Given the description of an element on the screen output the (x, y) to click on. 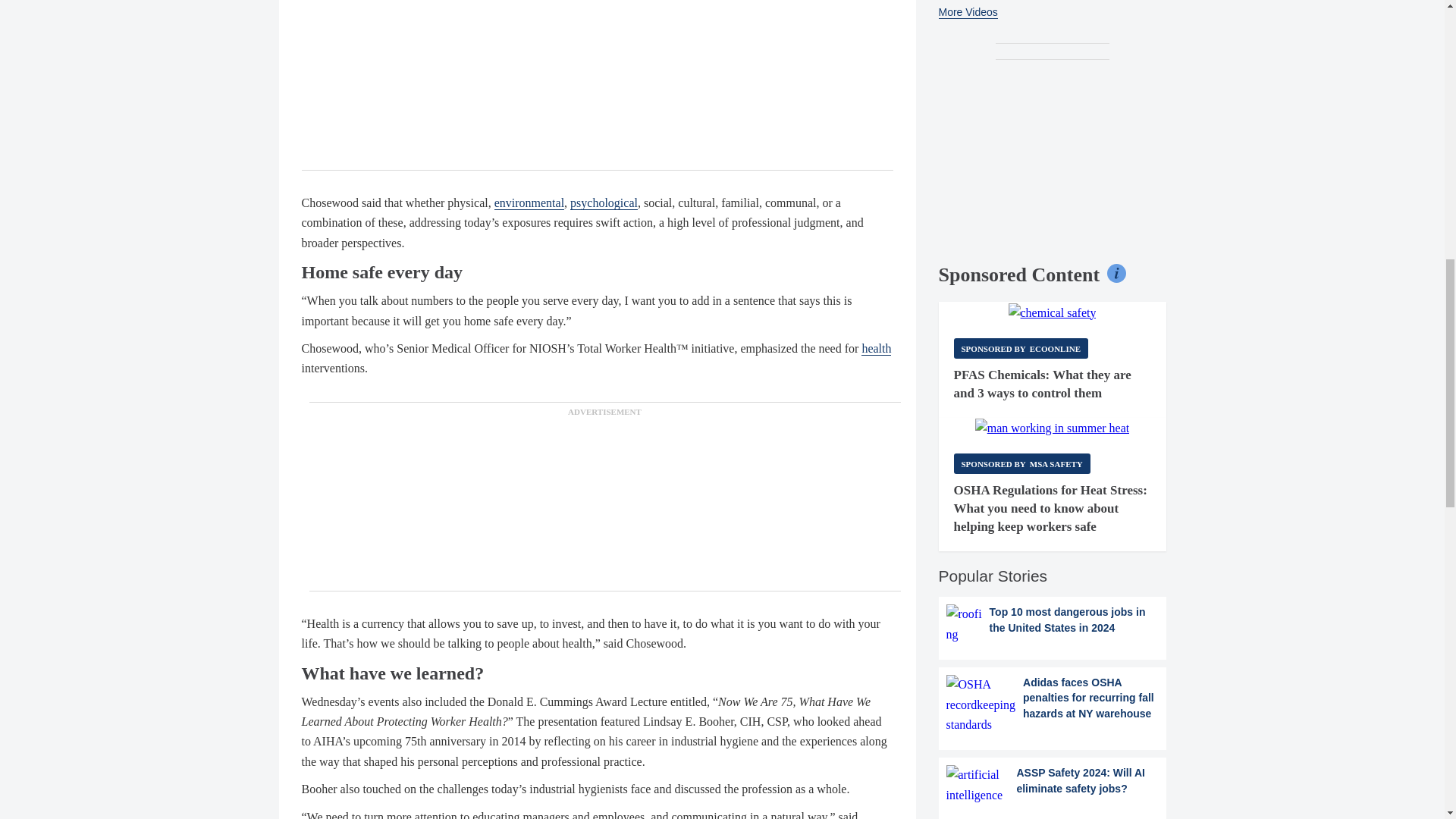
Sponsored by EcoOnline (1021, 348)
man working in summer heat (1052, 428)
ASSP Safety 2024: Will AI eliminate safety jobs? (1052, 784)
Top 10 most dangerous jobs in the United States in 2024 (1052, 624)
chemical safety (1052, 312)
Sponsored by MSA Safety (1021, 463)
